Given the description of an element on the screen output the (x, y) to click on. 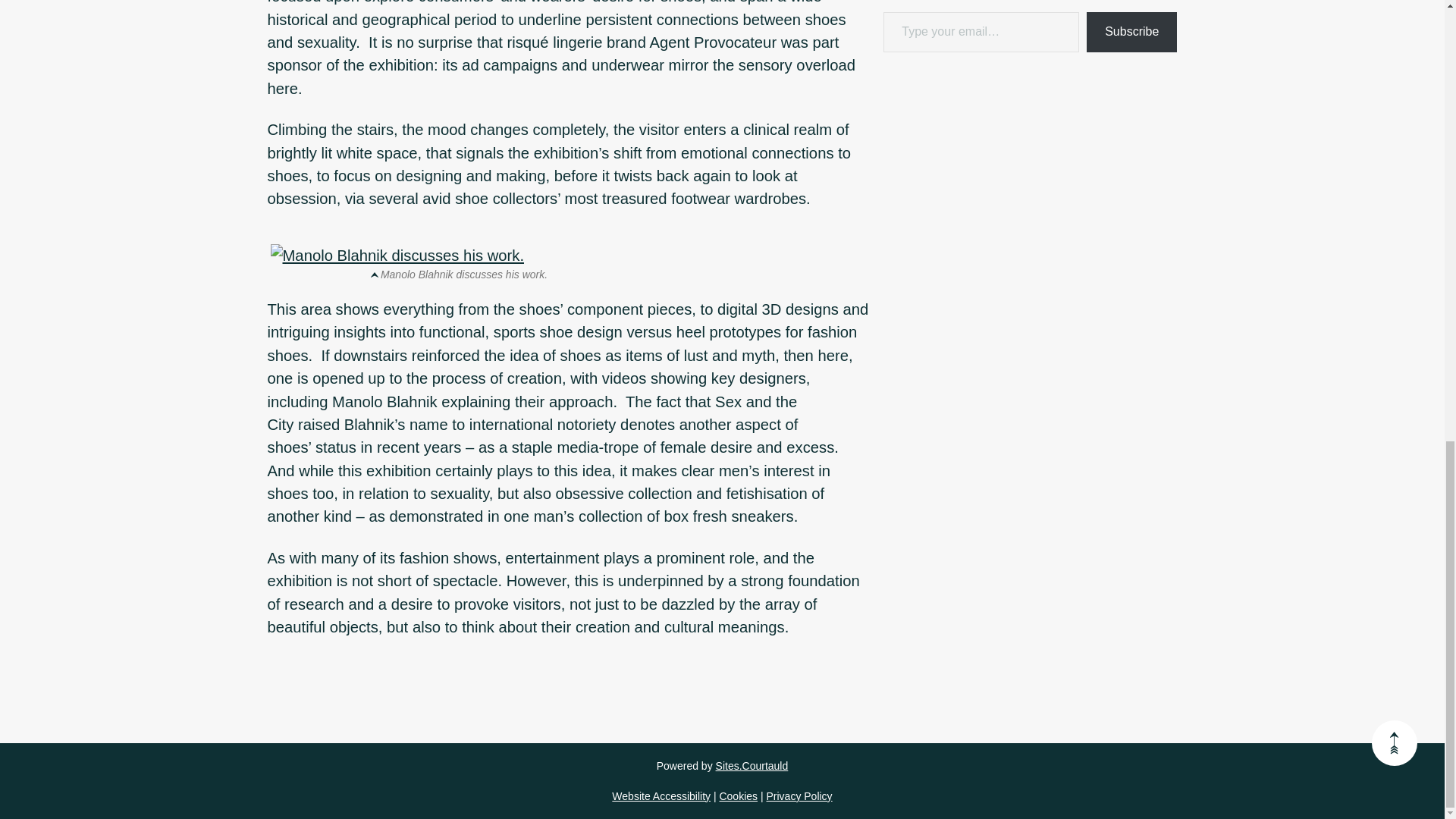
Cookies (738, 796)
Courtauld Satellite Websites Platform (752, 766)
Sites.Courtauld (752, 766)
Subscribe (1131, 32)
Please fill in this field. (980, 32)
Website Accessibility (660, 796)
Privacy Policy (798, 796)
